Given the description of an element on the screen output the (x, y) to click on. 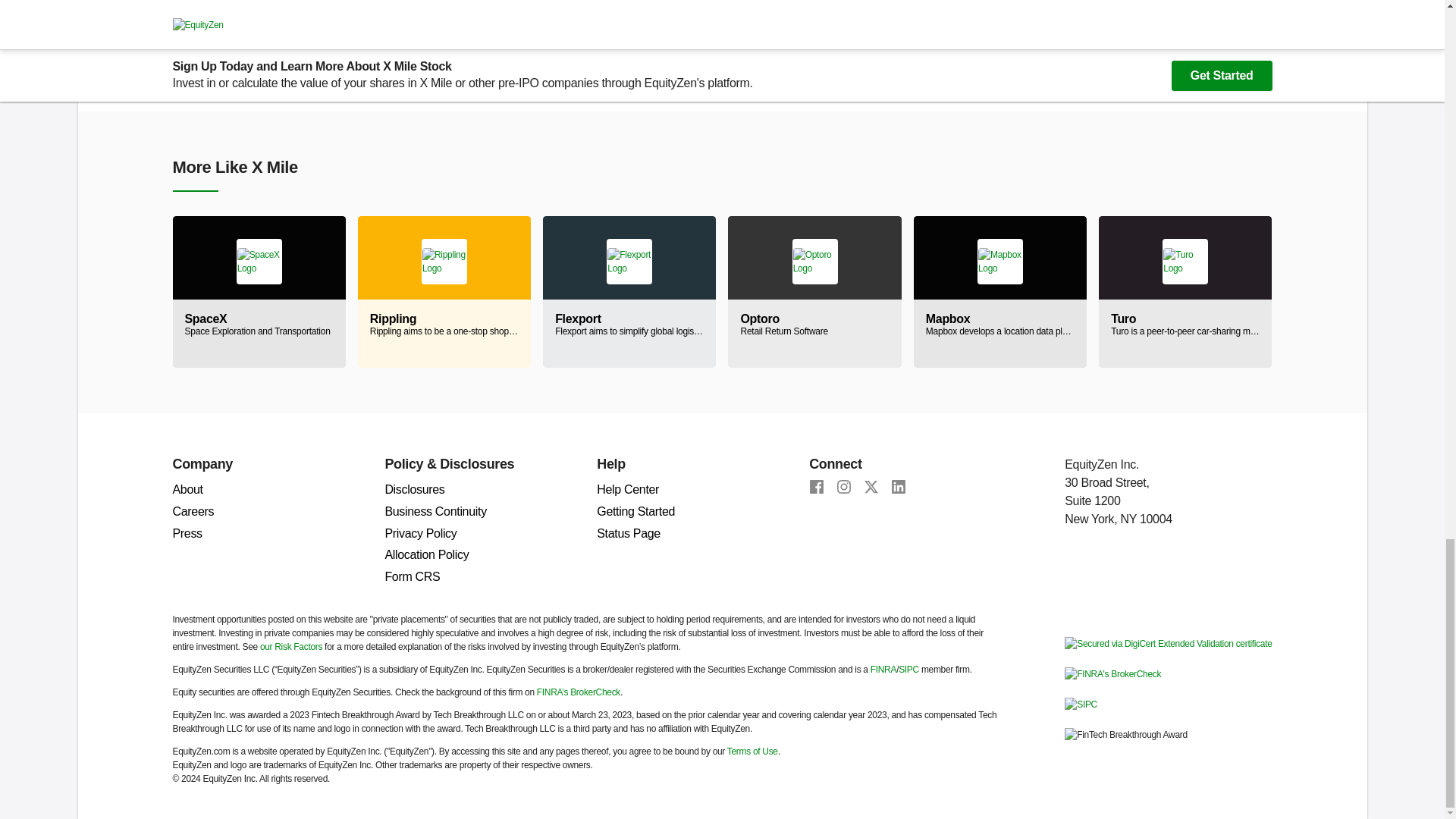
Getting Started (635, 511)
Help Center (627, 489)
Business Continuity (435, 511)
SIPC (1080, 703)
Business Continuity (435, 511)
Verify Digicert EV Certificate (1167, 643)
our Risk Factors (290, 646)
Privacy Policy (420, 533)
Status Page (628, 533)
Press (187, 533)
FINRA's BrokerCheck (1112, 673)
Allocation Policy (426, 554)
Status Page (814, 290)
